Given the description of an element on the screen output the (x, y) to click on. 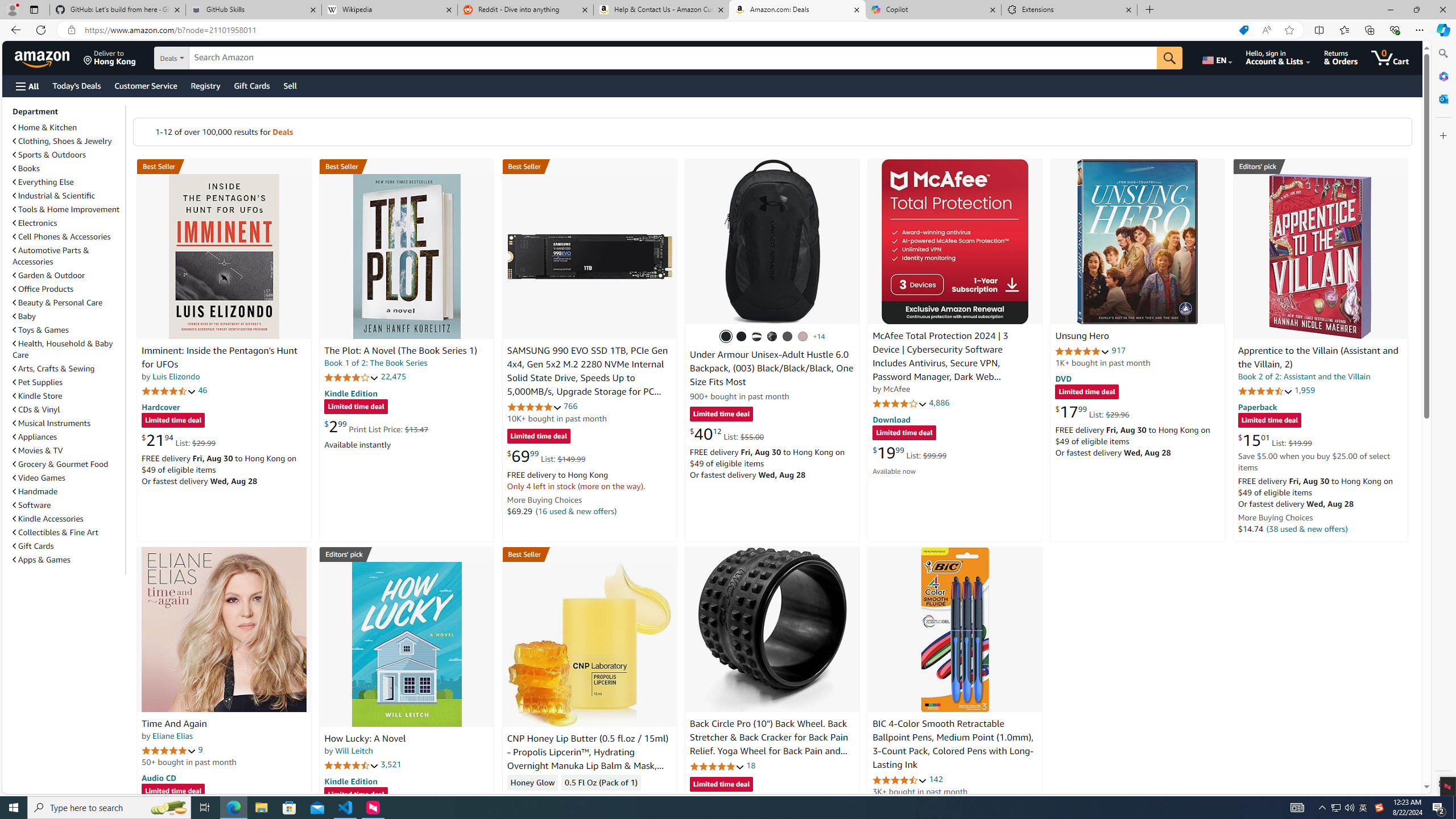
Imminent: Inside the Pentagon's Hunt for UFOs (219, 358)
Kindle Store (67, 395)
Customize (1442, 135)
Registry (205, 85)
917 (1117, 350)
(003) Black / Black / Black (725, 336)
46 (203, 390)
Pet Supplies (67, 382)
Search (1442, 53)
4.2 out of 5 stars (352, 377)
Collectibles & Fine Art (56, 532)
Handmade (35, 491)
